Given the description of an element on the screen output the (x, y) to click on. 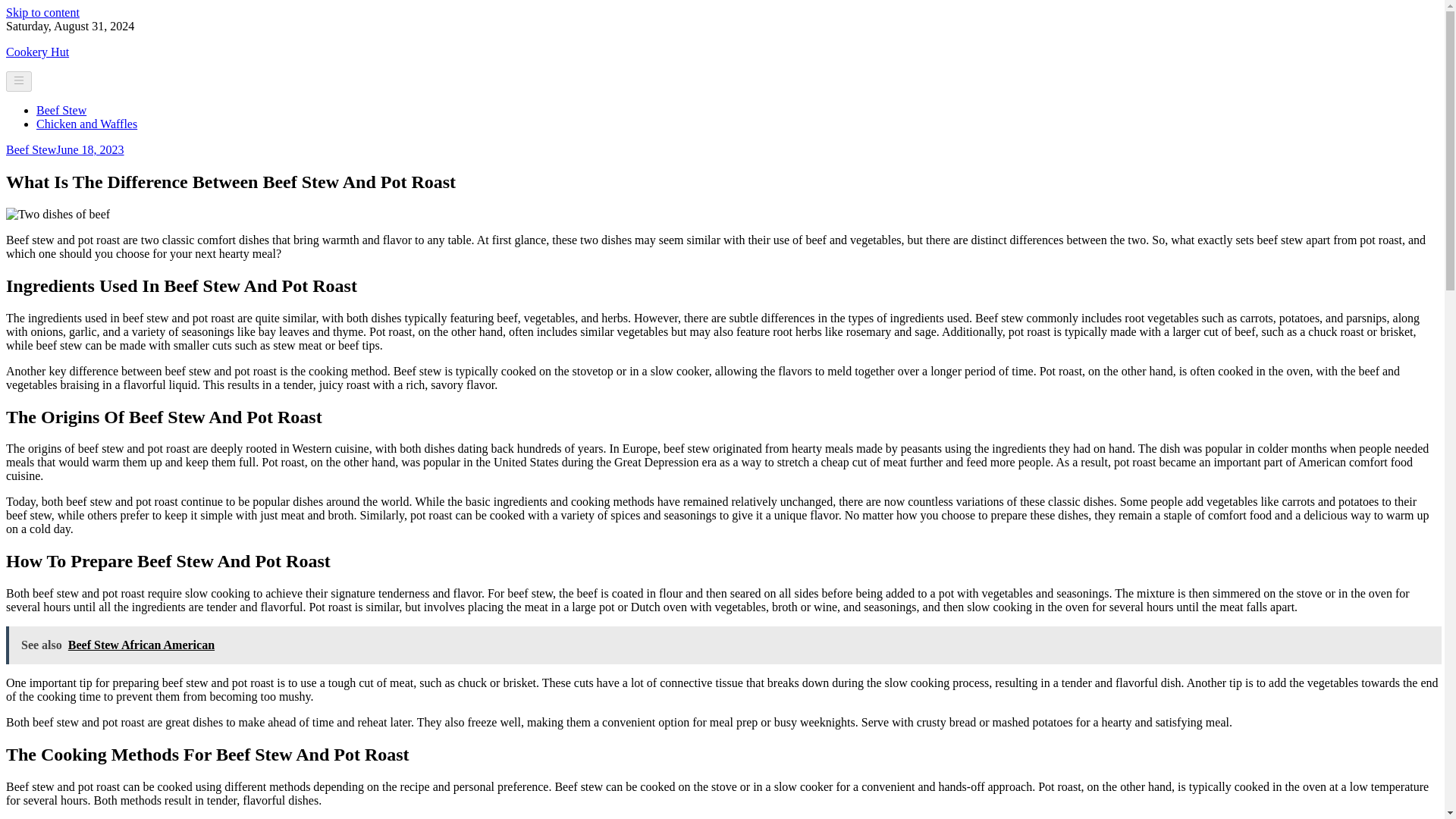
Chicken and Waffles (86, 123)
Beef Stew (60, 110)
Beef Stew (30, 149)
Skip to content (42, 11)
Cookery Hut (36, 51)
June 18, 2023 (89, 149)
